Given the description of an element on the screen output the (x, y) to click on. 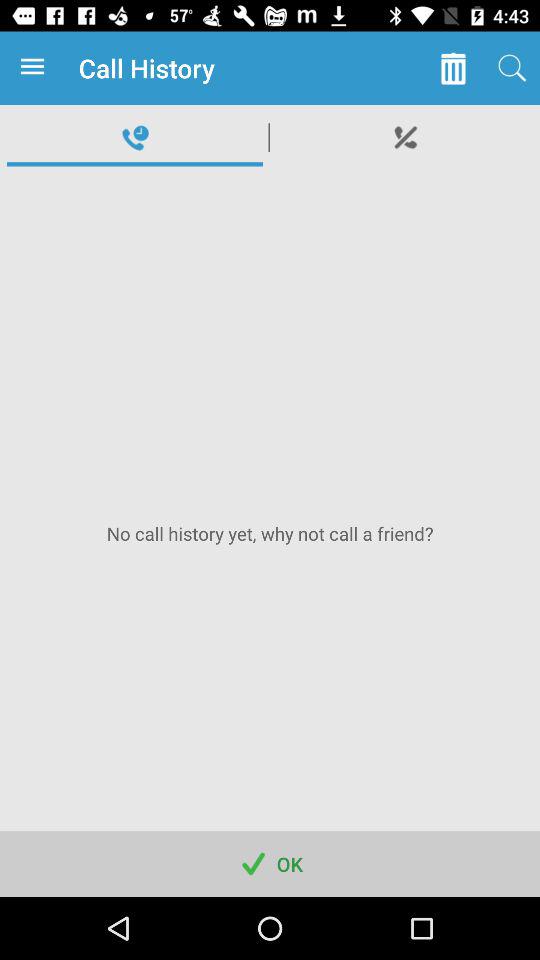
select the ok icon (270, 863)
